Given the description of an element on the screen output the (x, y) to click on. 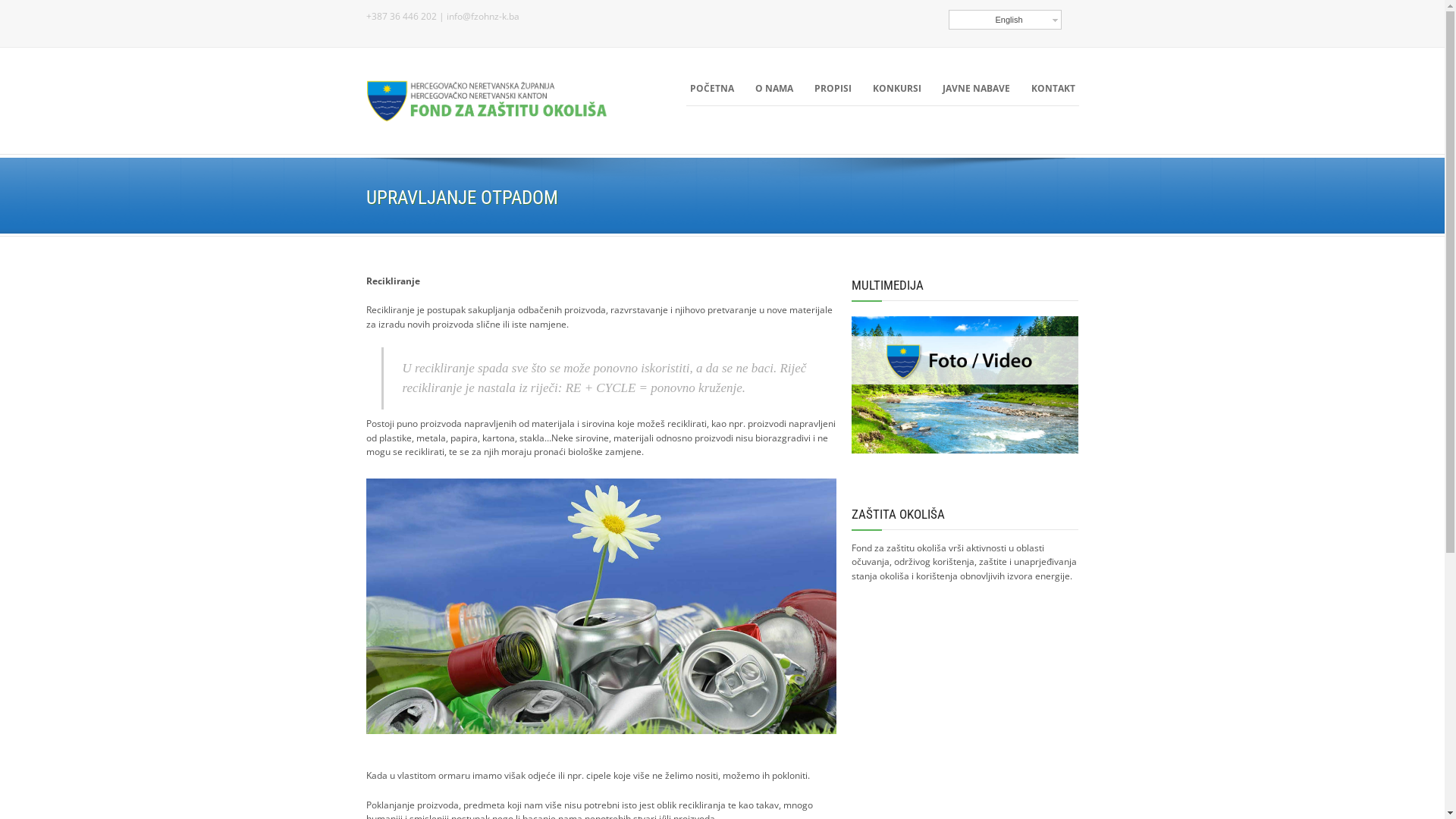
PROPISI Element type: text (831, 88)
KONTAKT Element type: text (1052, 88)
JAVNE NABAVE Element type: text (975, 88)
English Element type: text (1004, 19)
O NAMA Element type: text (773, 88)
KONKURSI Element type: text (897, 88)
